Given the description of an element on the screen output the (x, y) to click on. 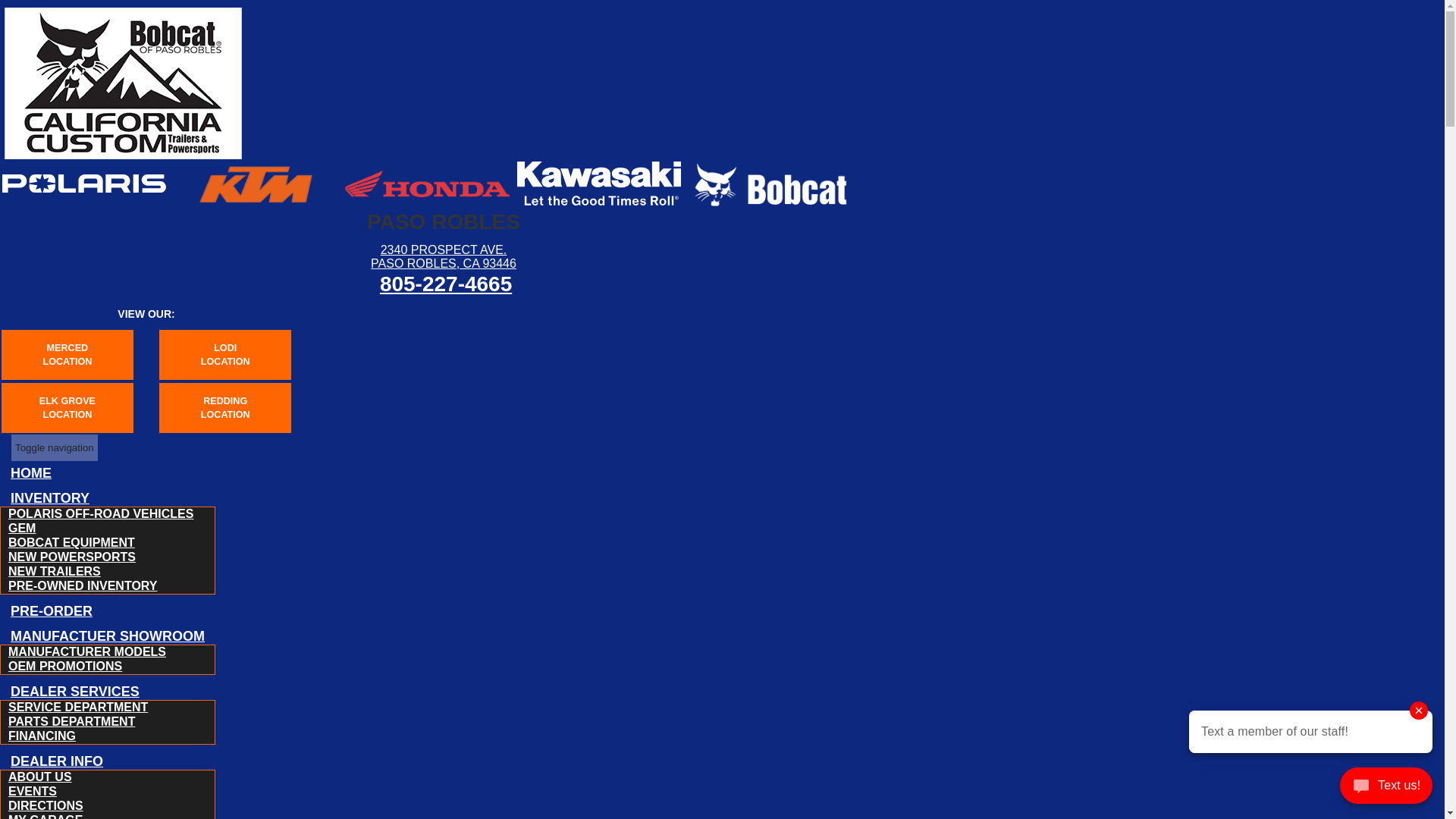
FINANCING (41, 735)
POLARIS OFF-ROAD VEHICLES (100, 513)
DIRECTIONS (45, 805)
DEALER SERVICES (74, 690)
EVENTS (32, 791)
PARTS DEPARTMENT (71, 721)
NEW TRAILERS (54, 570)
BOBCAT EQUIPMENT (71, 542)
MANUFACTUER SHOWROOM (107, 636)
MANUFACTURER MODELS (87, 651)
MY GARAGE (45, 814)
PRE-ORDER (51, 610)
NEW POWERSPORTS (71, 556)
OEM PROMOTIONS (65, 665)
Toggle navigation (54, 447)
